Given the description of an element on the screen output the (x, y) to click on. 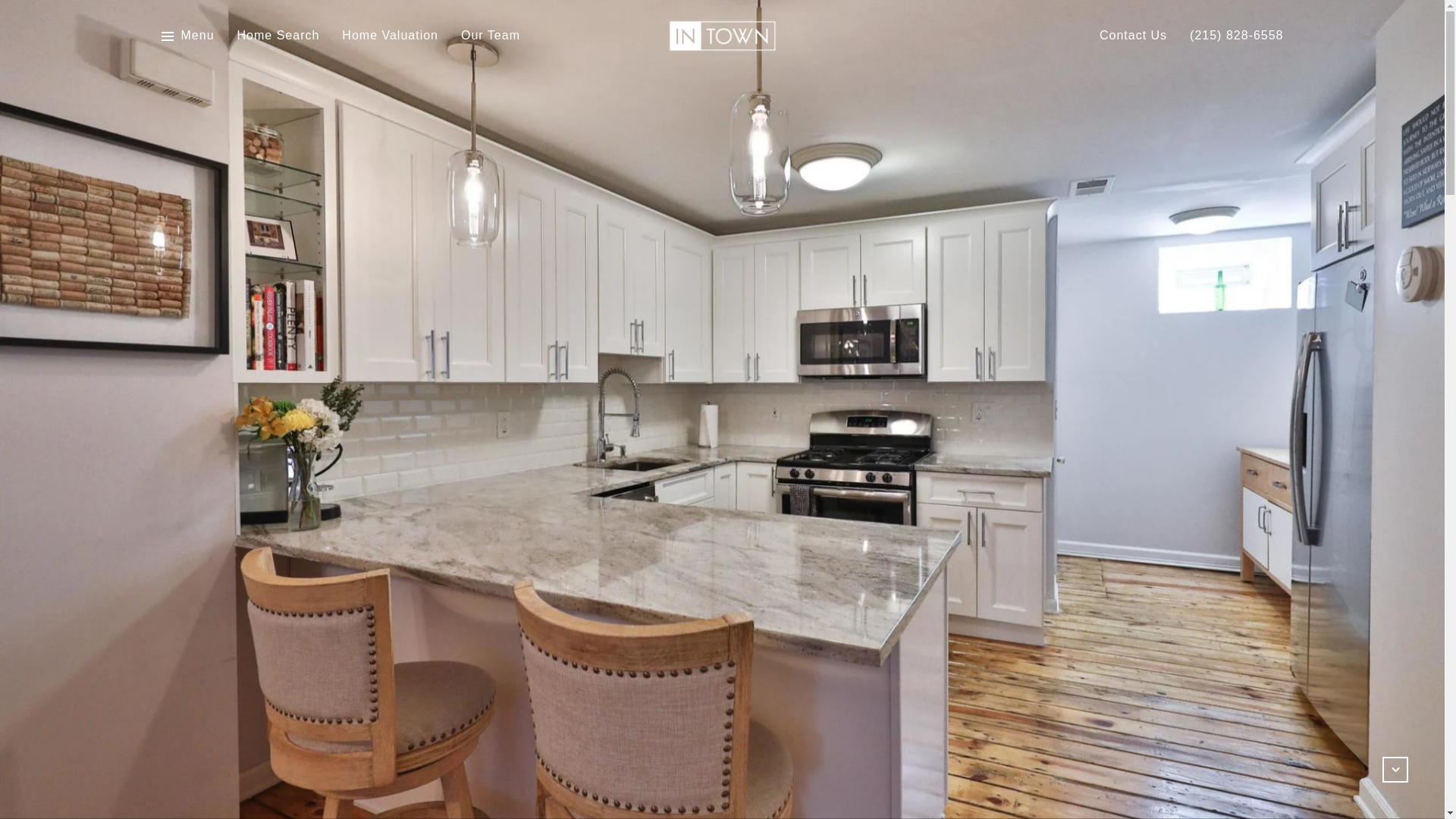
Home Valuation (390, 35)
Home Search (278, 35)
Contact Us (1133, 35)
Menu (197, 35)
Our Team (490, 35)
Menu (187, 35)
